Given the description of an element on the screen output the (x, y) to click on. 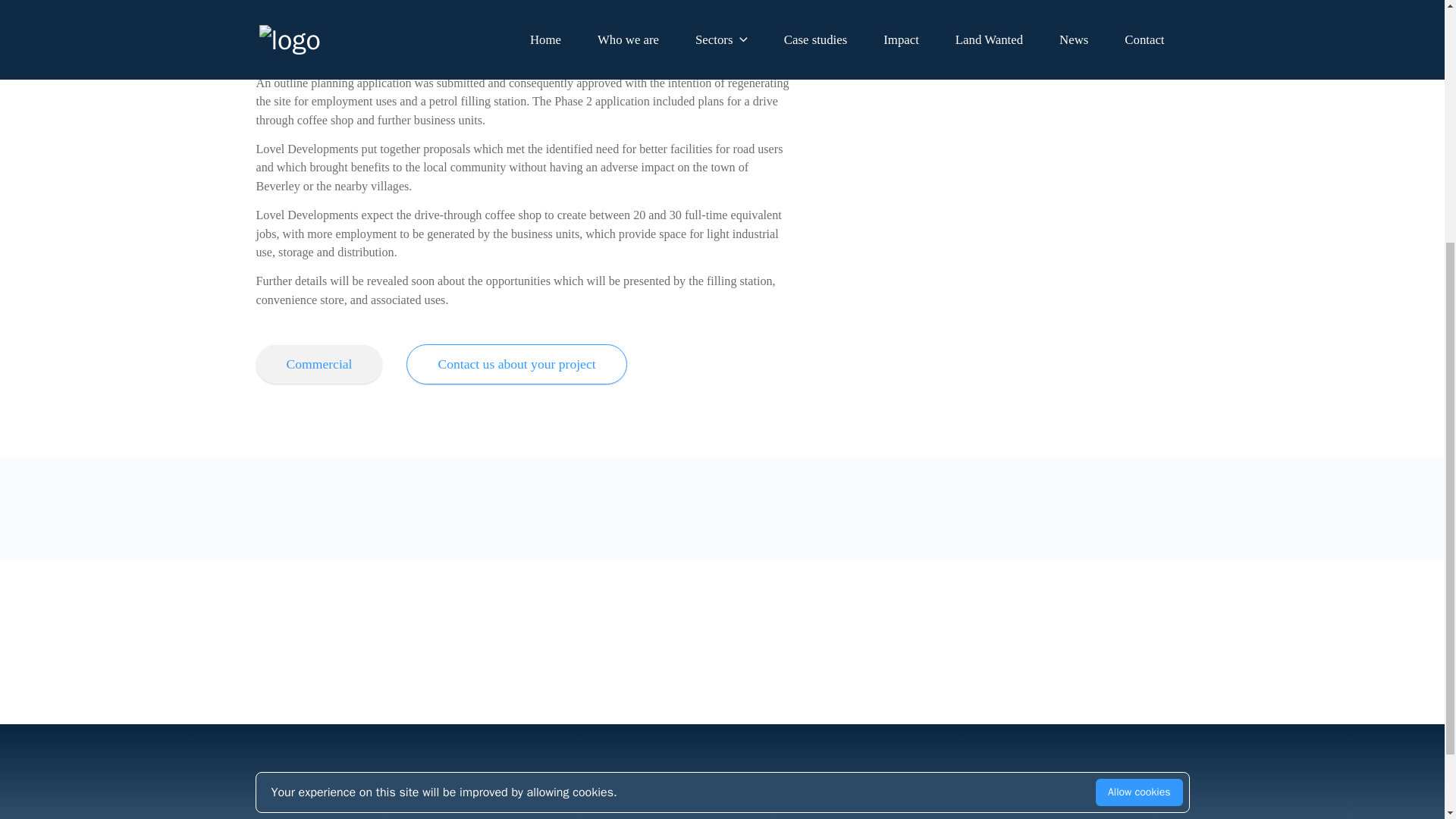
Commercial (319, 363)
Contact us about your project (516, 363)
Allow cookies (1139, 421)
